Given the description of an element on the screen output the (x, y) to click on. 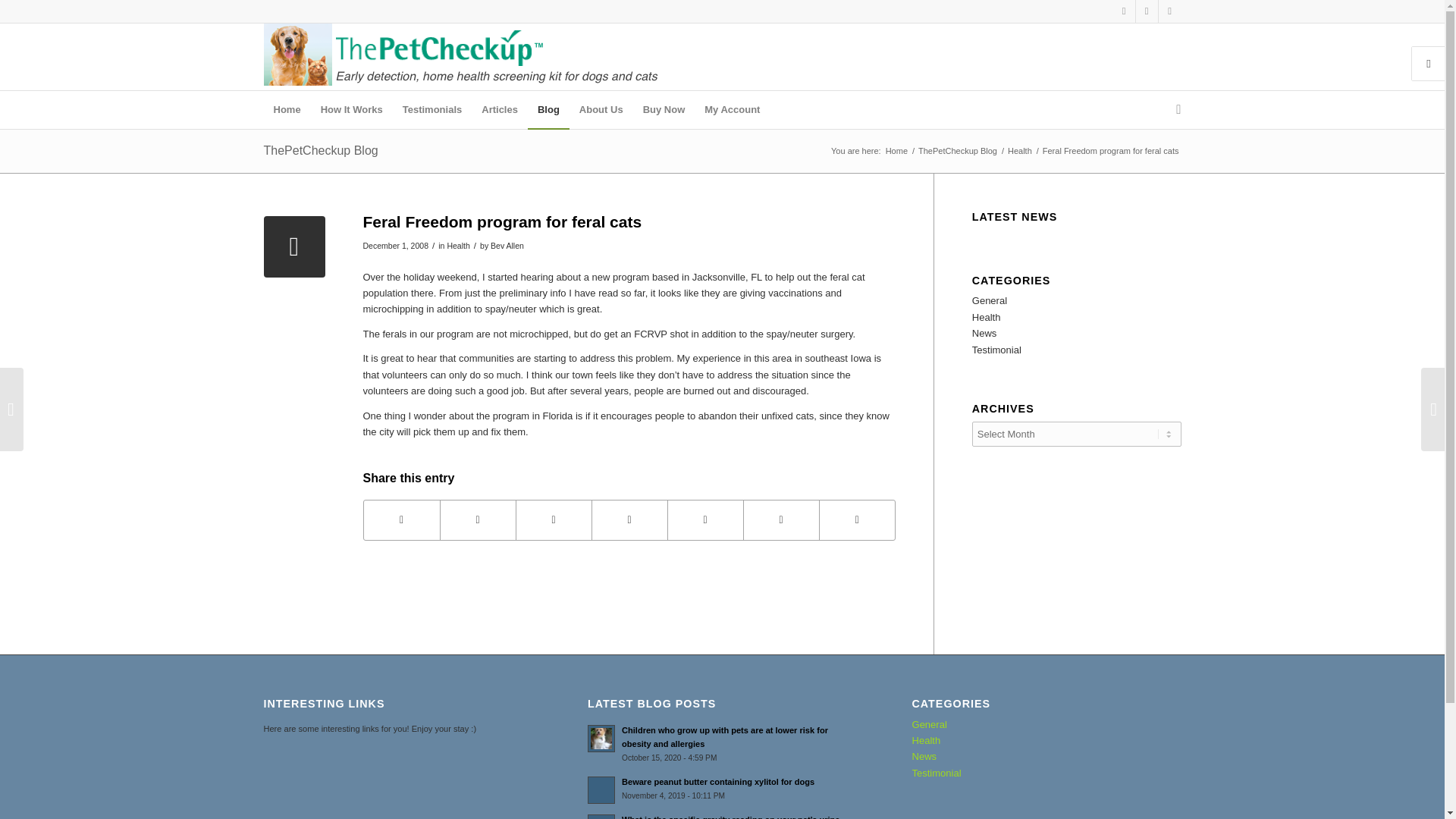
Blog (548, 109)
ThePetCheckup (896, 151)
How It Works (352, 109)
ThePetCheckup Blog (956, 151)
Twitter (1146, 11)
About Us (601, 109)
Feral Freedom program for feral cats (293, 246)
ThePetCheckup Blog (956, 151)
Testimonials (432, 109)
Health (1019, 151)
Facebook (1124, 11)
Health (457, 245)
ThePetCheckup Blog (320, 150)
LinkedIn (1169, 11)
Home (896, 151)
